Given the description of an element on the screen output the (x, y) to click on. 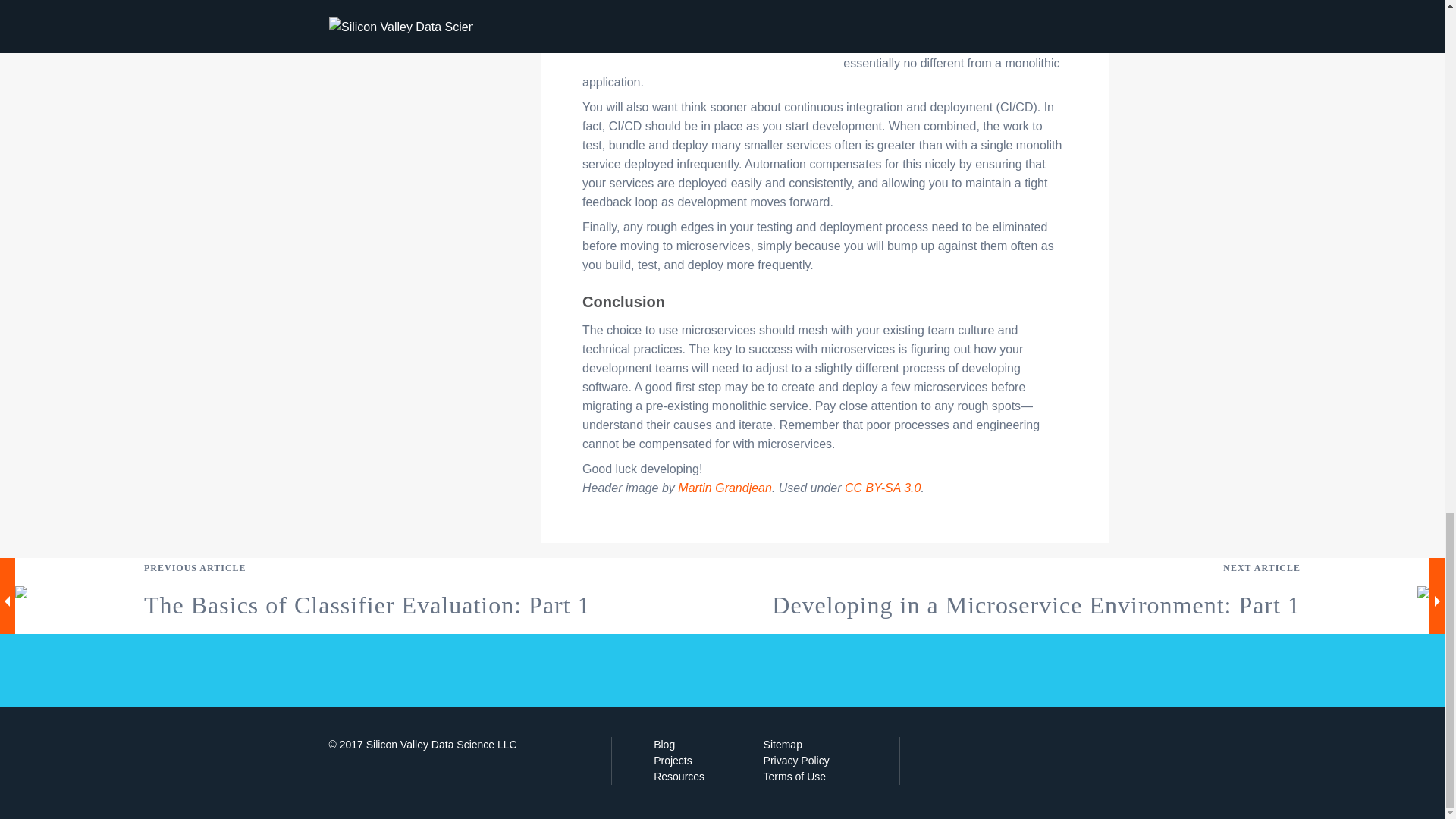
CC BY-SA 3.0 (882, 487)
Sitemap (782, 744)
Martin Grandjean (724, 487)
Resources (678, 776)
Blog (664, 744)
Projects (673, 760)
Terms of Use (793, 776)
Privacy Policy (795, 760)
